Given the description of an element on the screen output the (x, y) to click on. 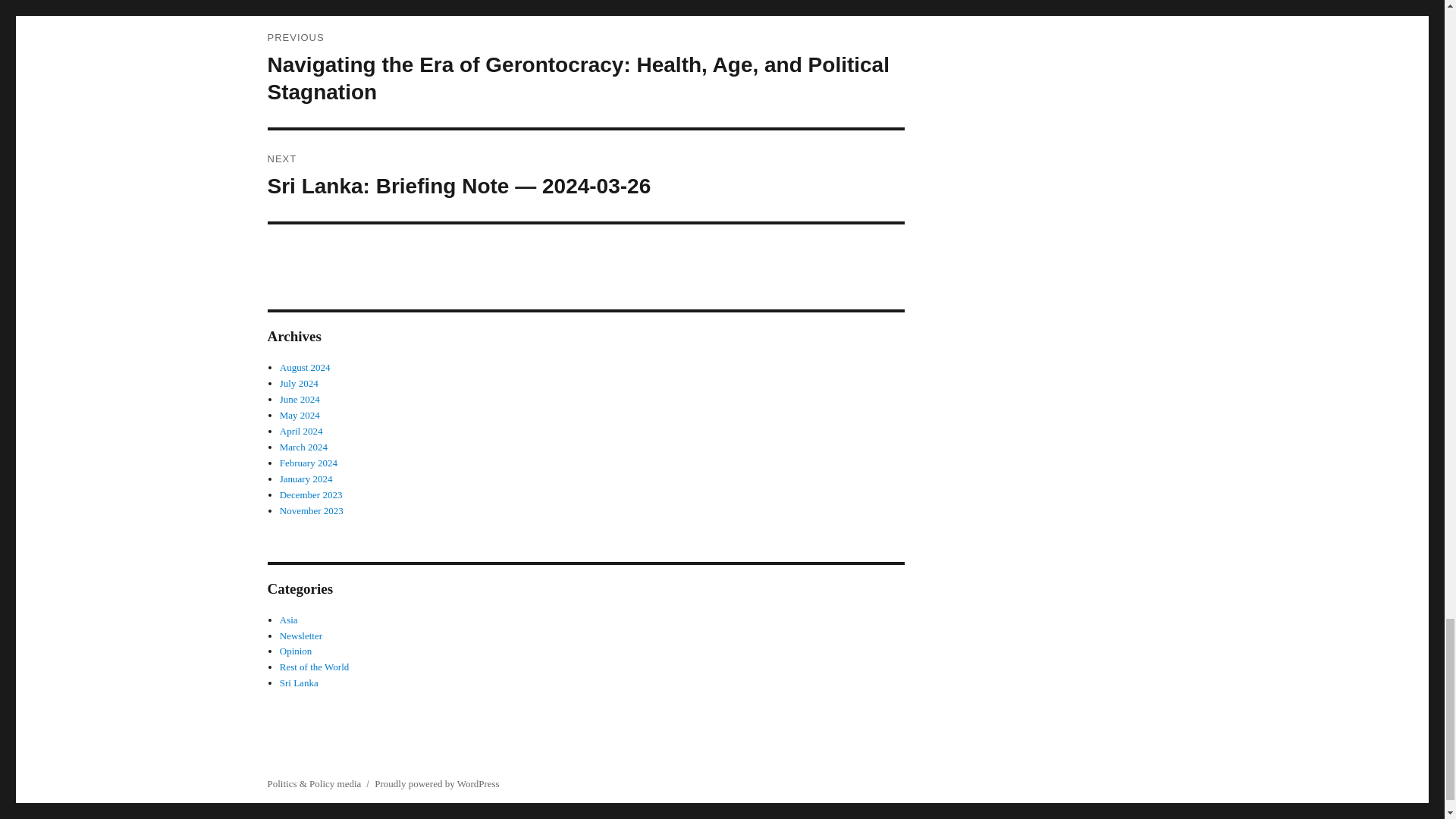
December 2023 (310, 494)
April 2024 (301, 430)
February 2024 (308, 462)
Opinion (296, 650)
June 2024 (299, 398)
January 2024 (306, 478)
Rest of the World (314, 666)
Newsletter (300, 635)
November 2023 (311, 510)
Sri Lanka (298, 682)
